Given the description of an element on the screen output the (x, y) to click on. 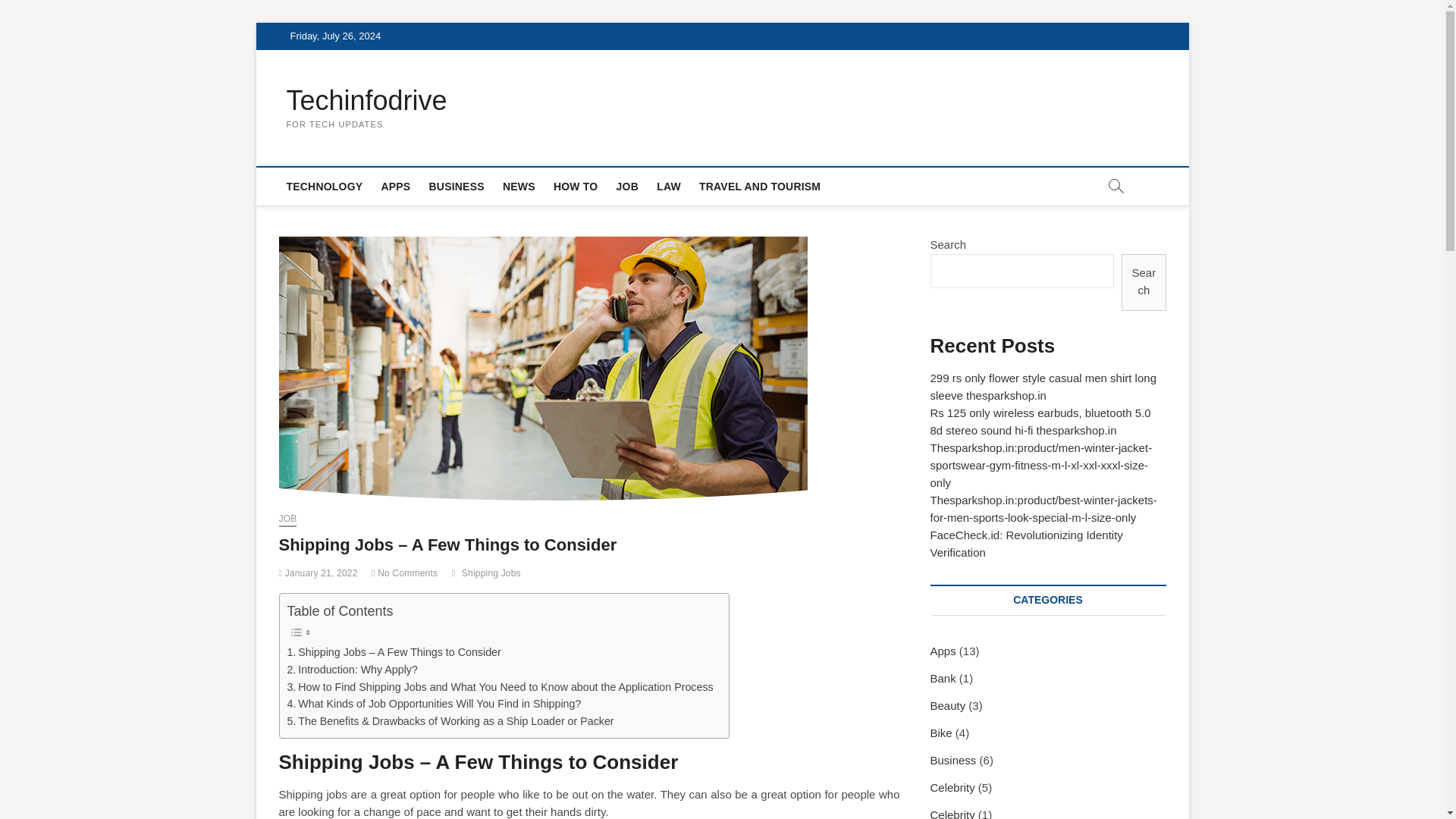
FaceCheck.id: Revolutionizing Identity Verification (1026, 543)
January 21, 2022 (318, 573)
What Kinds of Job Opportunities Will You Find in Shipping? (433, 703)
APPS (394, 186)
Bank (942, 677)
Beauty (947, 705)
Business (952, 759)
TRAVEL AND TOURISM (759, 186)
BUSINESS (457, 186)
HOW TO (575, 186)
NEWS (519, 186)
What Kinds of Job Opportunities Will You Find in Shipping? (433, 703)
LAW (668, 186)
